Given the description of an element on the screen output the (x, y) to click on. 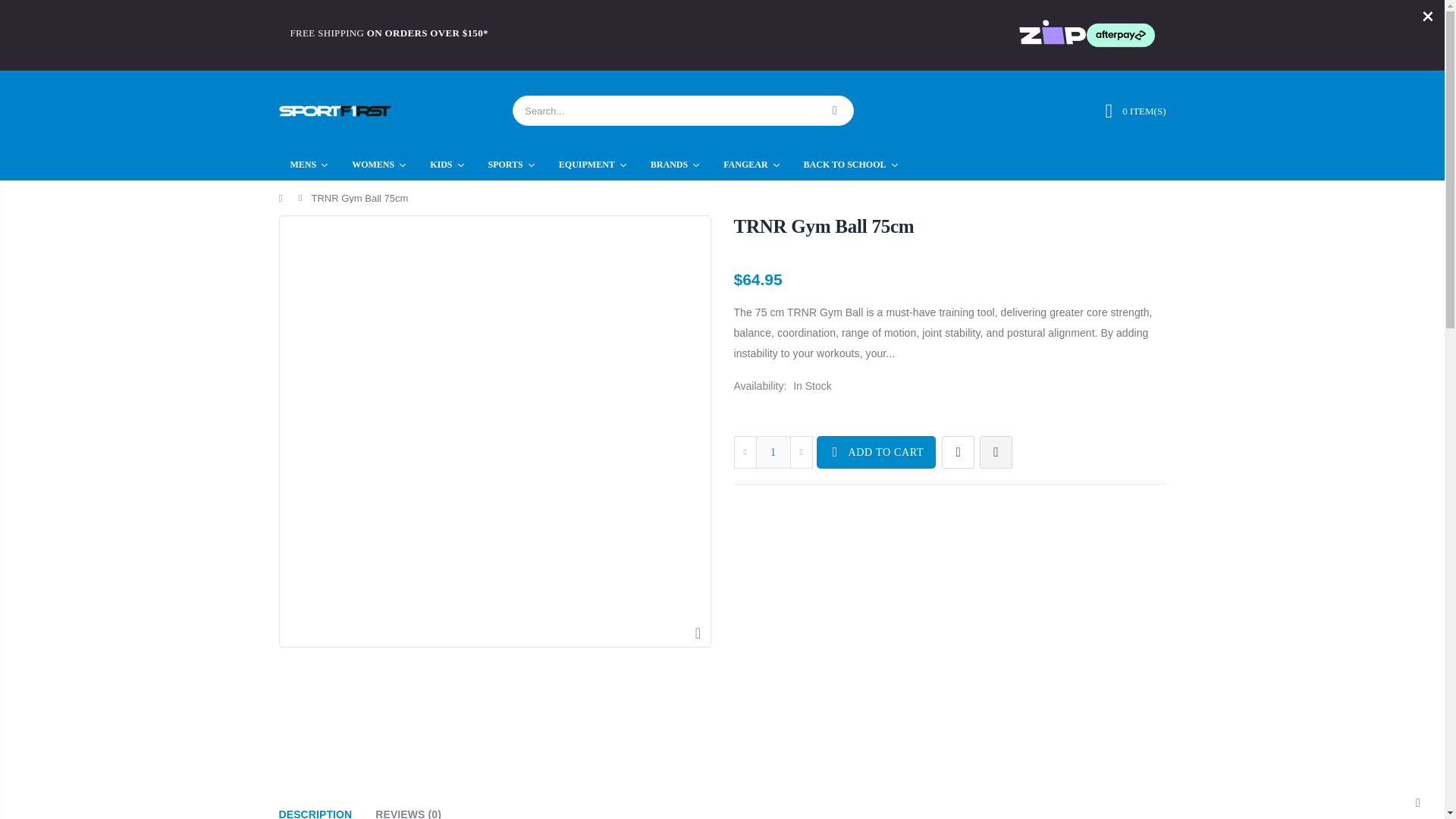
Brands (675, 164)
Search (833, 110)
Sports (512, 164)
1 (772, 451)
Mens (309, 164)
Womens (379, 164)
Kids (447, 164)
Back To School (851, 164)
Equipment (593, 164)
Fangear (751, 164)
